Given the description of an element on the screen output the (x, y) to click on. 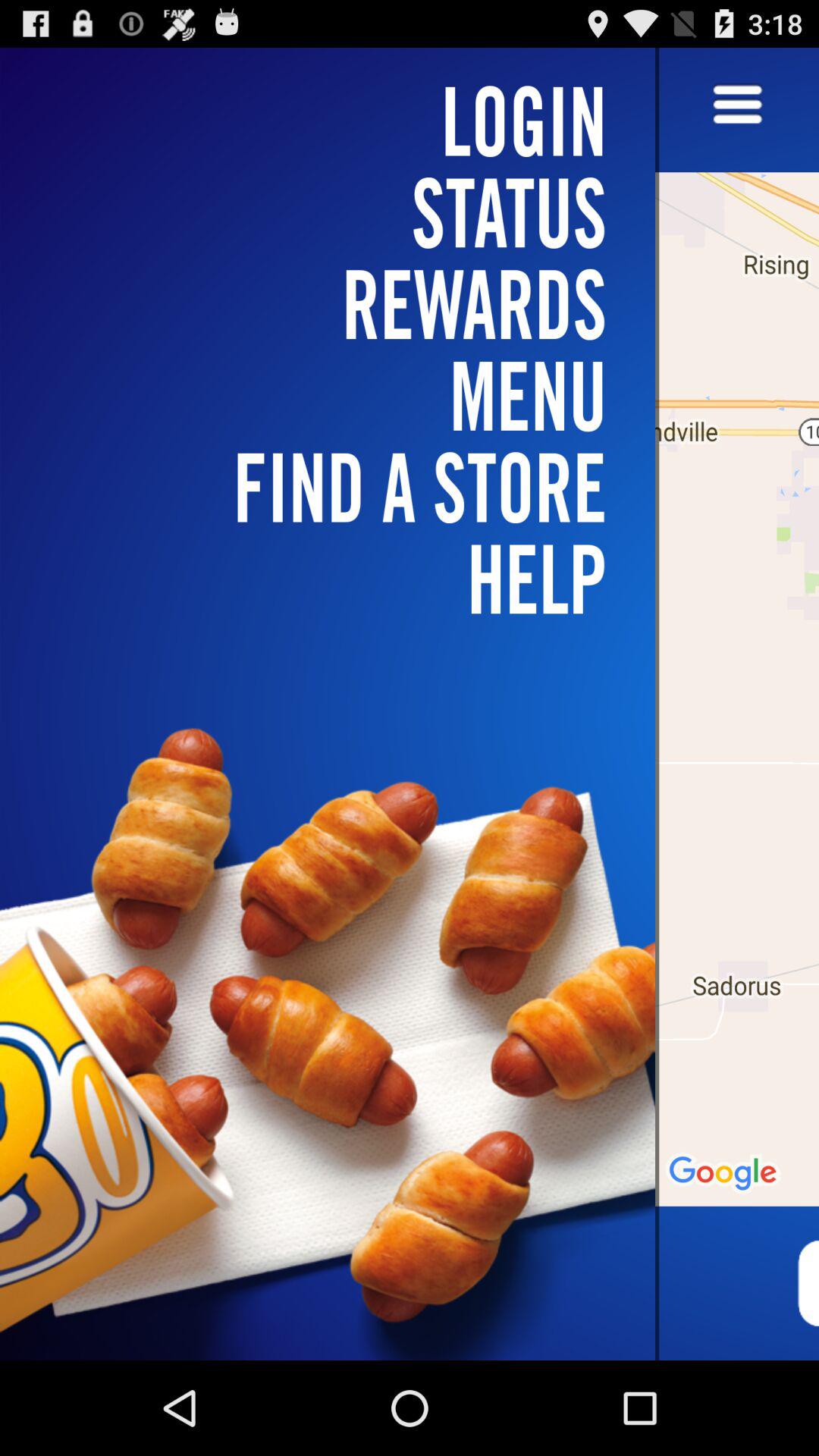
scroll to the help (336, 578)
